Given the description of an element on the screen output the (x, y) to click on. 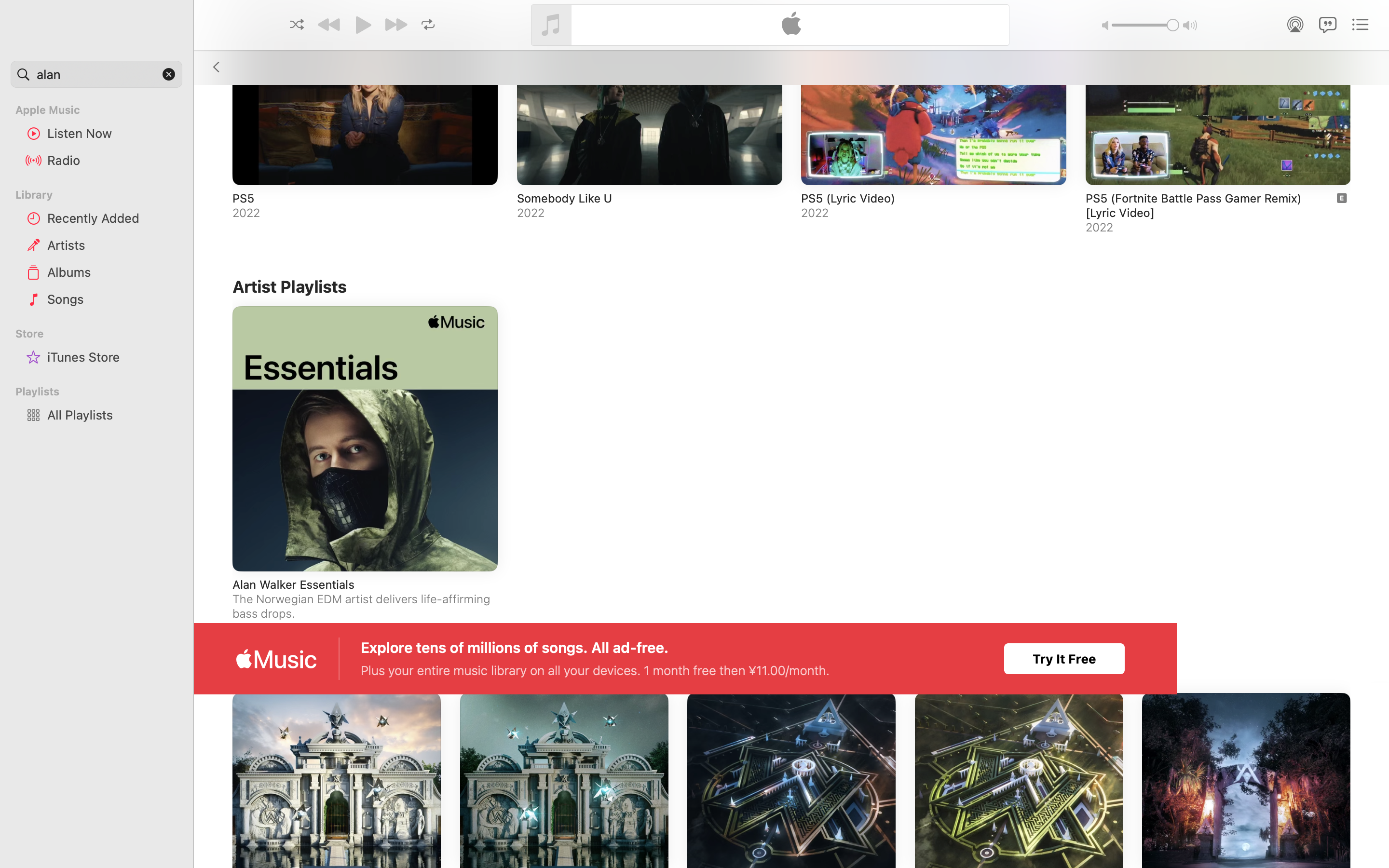
iTunes Store Element type: AXStaticText (111, 356)
￼ Element type: AXImage (1341, 197)
Listen Now Element type: AXStaticText (111, 132)
Apple Music Element type: AXStaticText (101, 109)
Songs Element type: AXStaticText (111, 298)
